Given the description of an element on the screen output the (x, y) to click on. 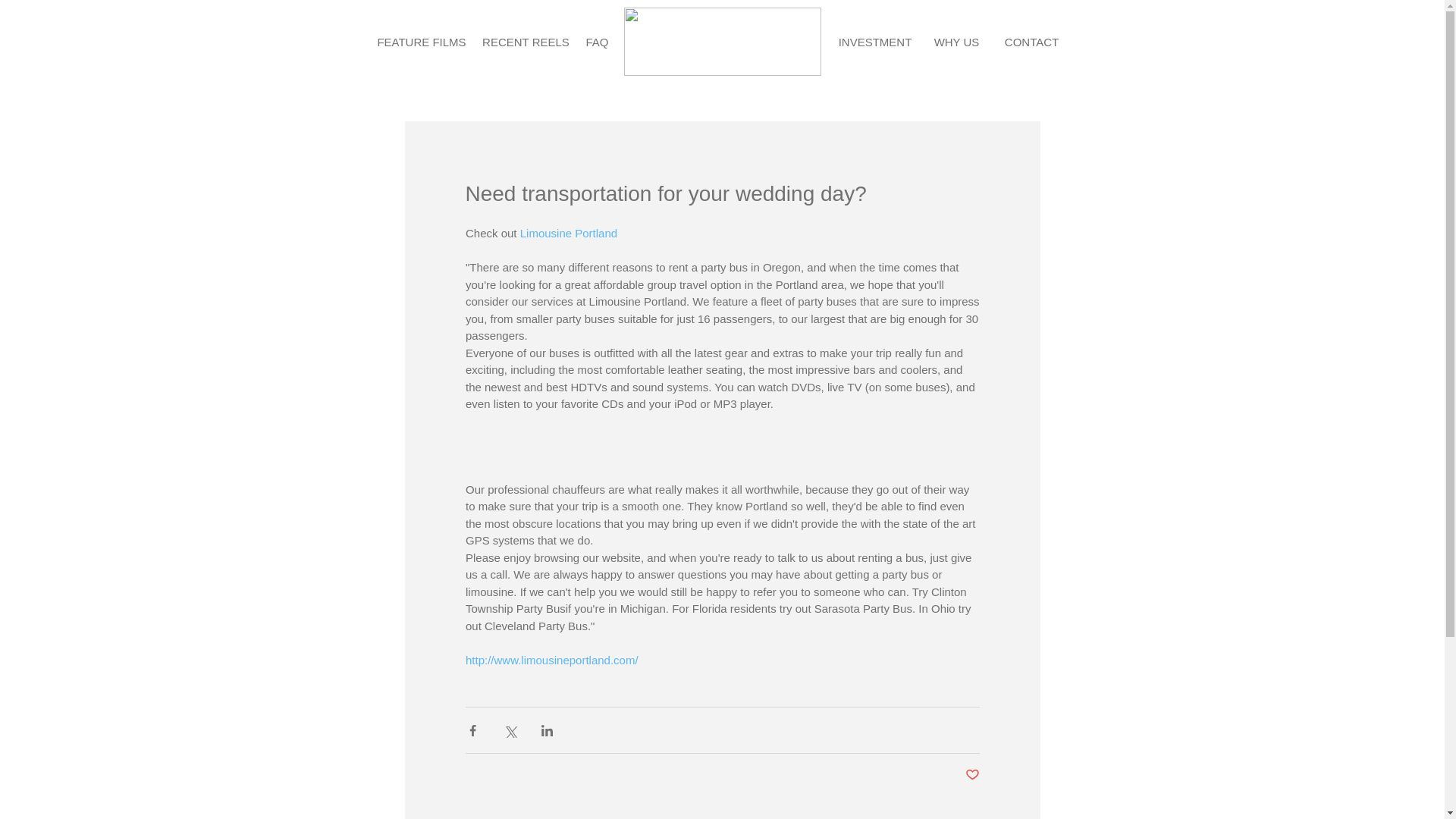
FAQ (597, 41)
Limousine Portland  (569, 232)
RECENT REELS (525, 41)
FEATURE FILMS (420, 41)
Post not marked as liked (970, 774)
WHY US (955, 41)
INVESTMENT (875, 41)
CONTACT (1031, 41)
